Given the description of an element on the screen output the (x, y) to click on. 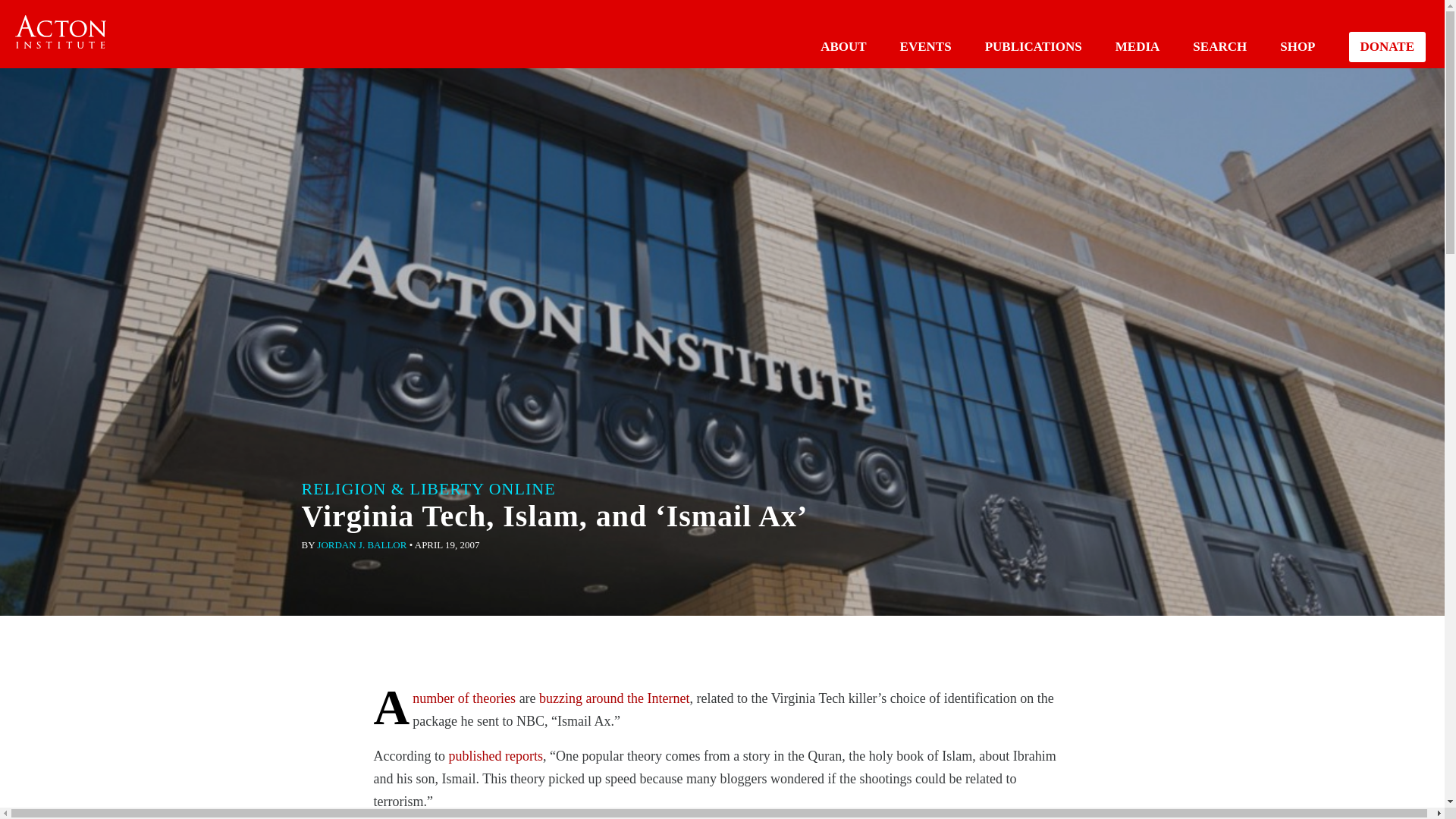
published reports (494, 754)
PUBLICATIONS (1033, 46)
SHOP (1296, 46)
MEDIA (1137, 46)
ABOUT (843, 46)
DONATE (1387, 46)
number of theories (463, 697)
Posts by Jordan J. Ballor (361, 544)
SEARCH (1219, 46)
JORDAN J. BALLOR (361, 544)
buzzing around the Internet (613, 697)
The Acton Institute (60, 31)
EVENTS (925, 46)
